Given the description of an element on the screen output the (x, y) to click on. 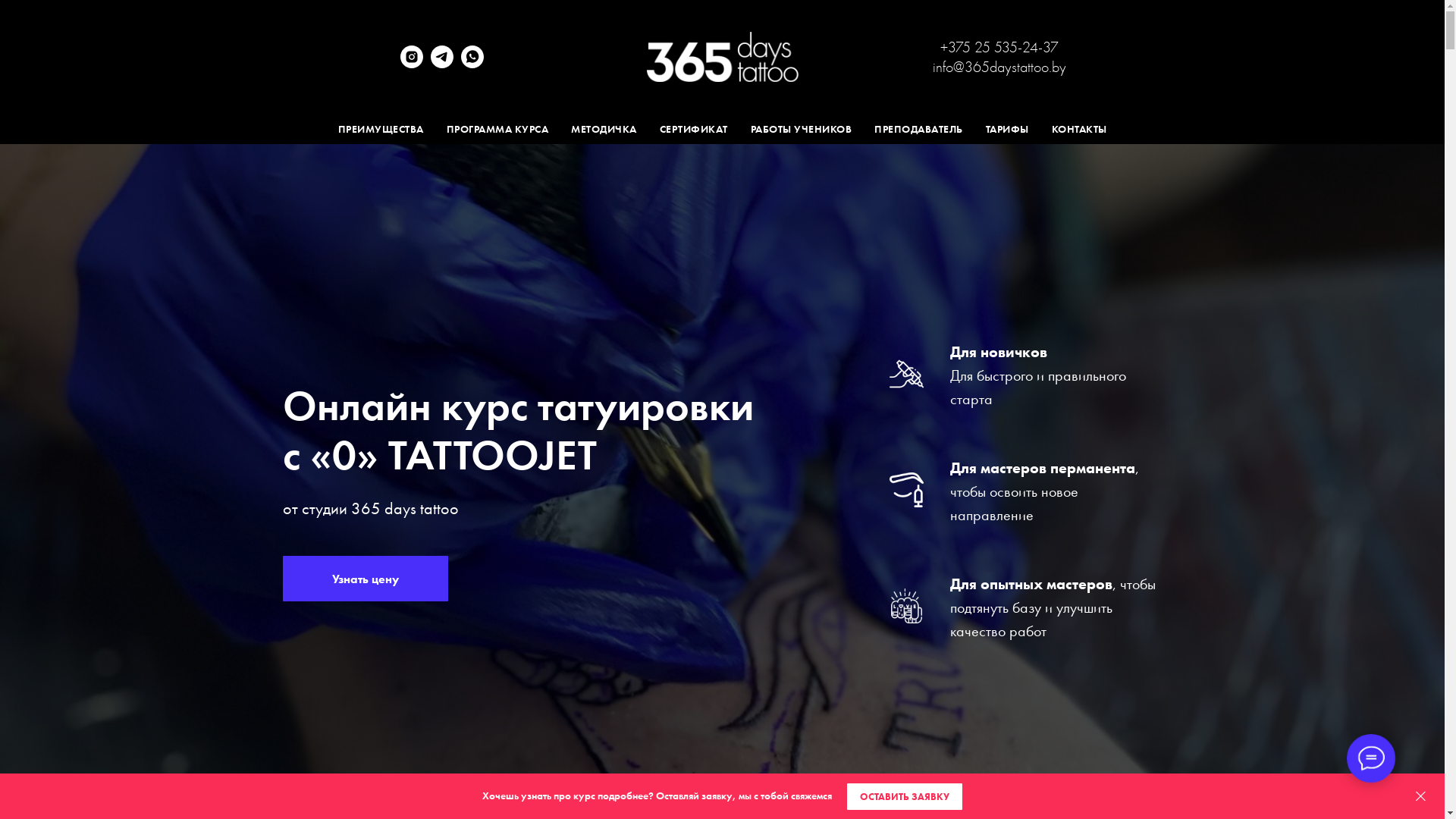
Close Element type: text (1420, 795)
info@365daystattoo.by Element type: text (999, 66)
+375 25 535-24-37 Element type: text (999, 46)
